Given the description of an element on the screen output the (x, y) to click on. 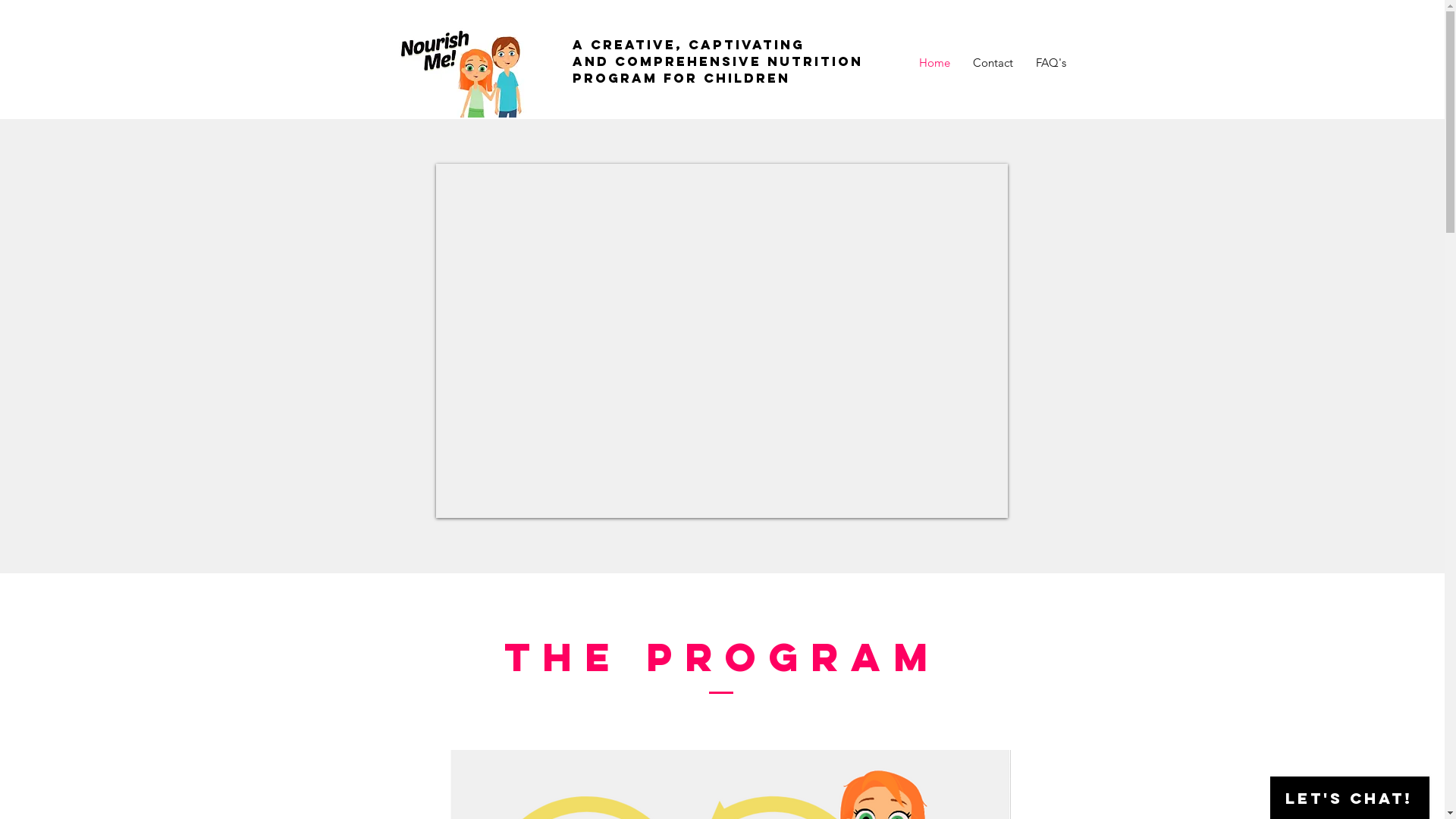
Contact Element type: text (992, 62)
FAQ's Element type: text (1049, 62)
Home Element type: text (933, 62)
